Given the description of an element on the screen output the (x, y) to click on. 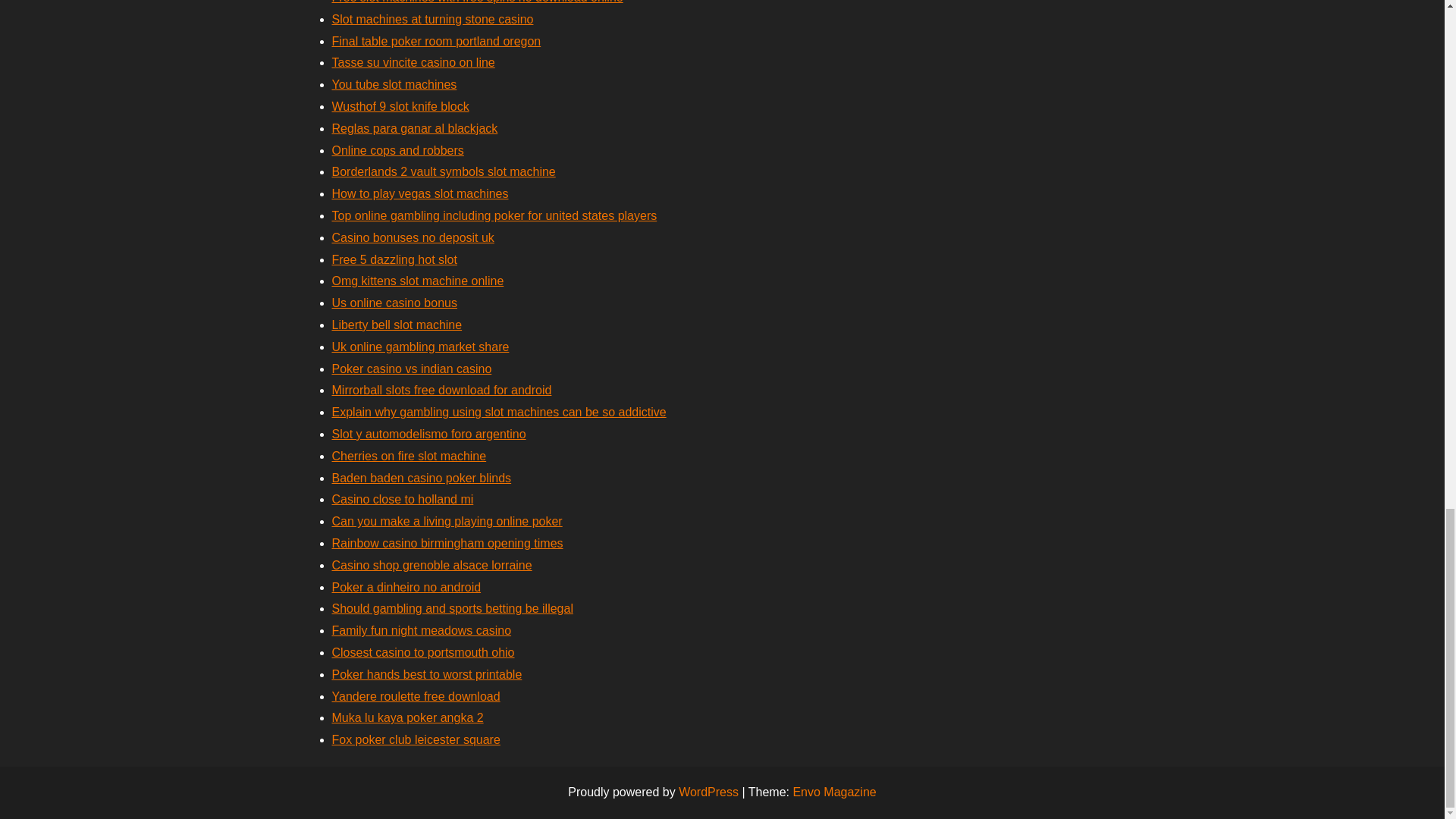
Explain why gambling using slot machines can be so addictive (498, 411)
Reglas para ganar al blackjack (414, 128)
Liberty bell slot machine (397, 324)
Casino bonuses no deposit uk (413, 237)
You tube slot machines (394, 83)
Final table poker room portland oregon (436, 41)
Poker a dinheiro no android (406, 586)
Mirrorball slots free download for android (441, 390)
Slot machines at turning stone casino (432, 19)
Free slot machines with free spins no download online (477, 2)
Free 5 dazzling hot slot (394, 259)
Casino shop grenoble alsace lorraine (431, 564)
Poker casino vs indian casino (411, 368)
Online cops and robbers (397, 150)
Slot y automodelismo foro argentino (428, 433)
